Given the description of an element on the screen output the (x, y) to click on. 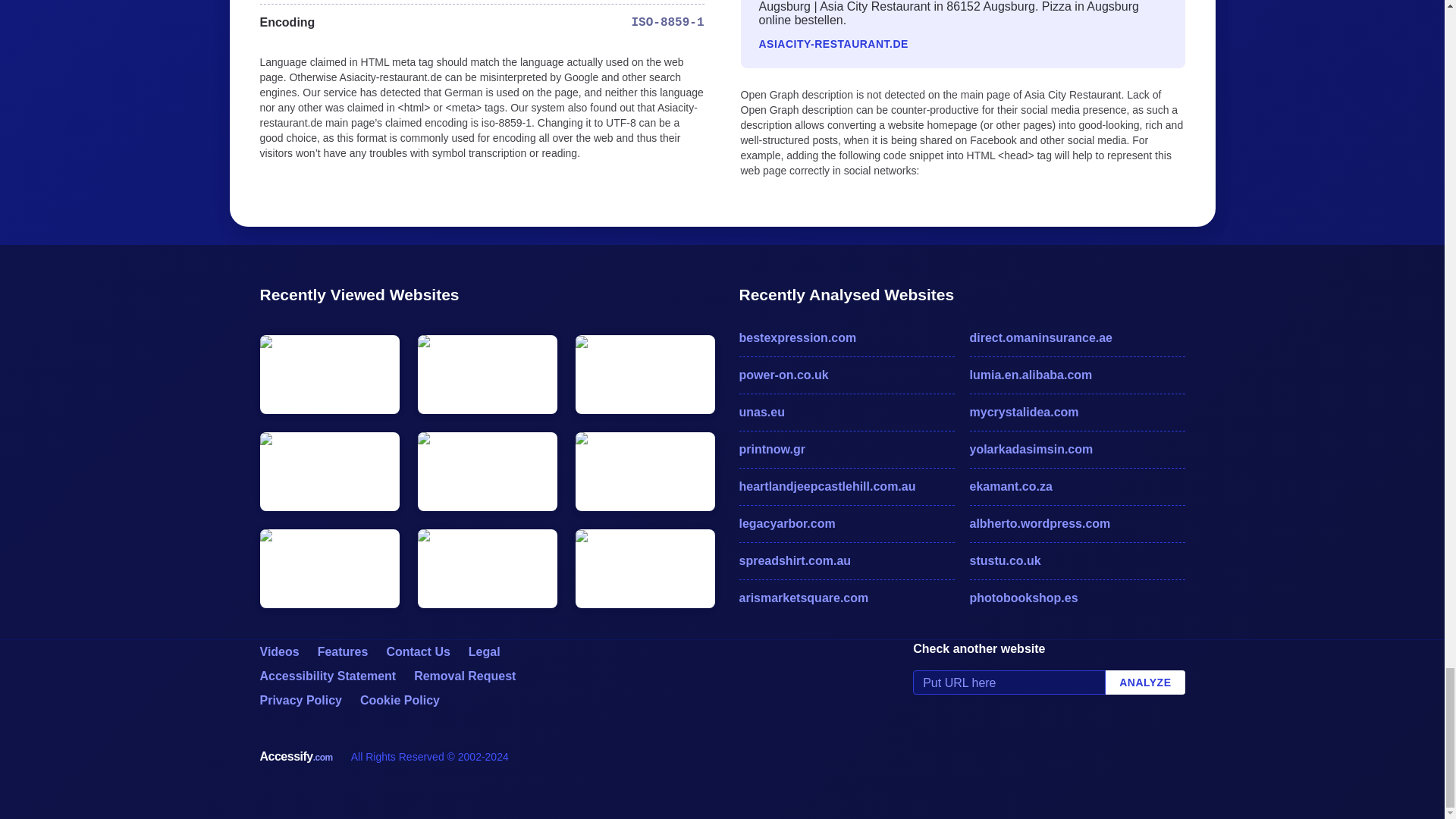
arismarketsquare.com (845, 597)
printnow.gr (845, 449)
Contact Us (417, 651)
unas.eu (845, 412)
power-on.co.uk (845, 375)
lumia.en.alibaba.com (1077, 375)
Screencasts: video tutorials and guides (278, 651)
direct.omaninsurance.ae (1077, 338)
stustu.co.uk (1077, 561)
legacyarbor.com (845, 524)
heartlandjeepcastlehill.com.au (845, 486)
Videos (278, 651)
bestexpression.com (845, 338)
albherto.wordpress.com (1077, 524)
Legal (484, 651)
